Given the description of an element on the screen output the (x, y) to click on. 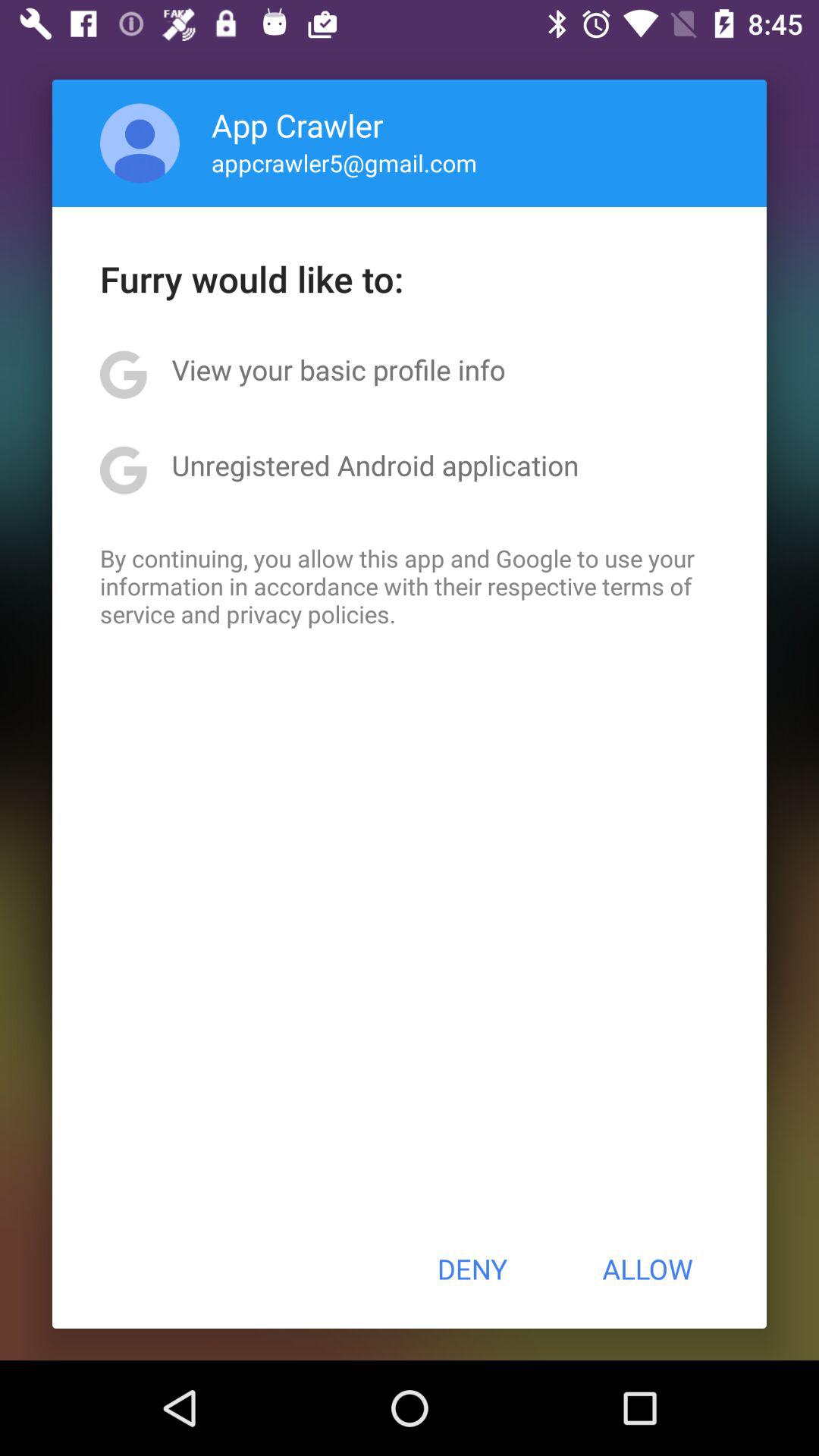
turn off the item below view your basic icon (374, 465)
